Given the description of an element on the screen output the (x, y) to click on. 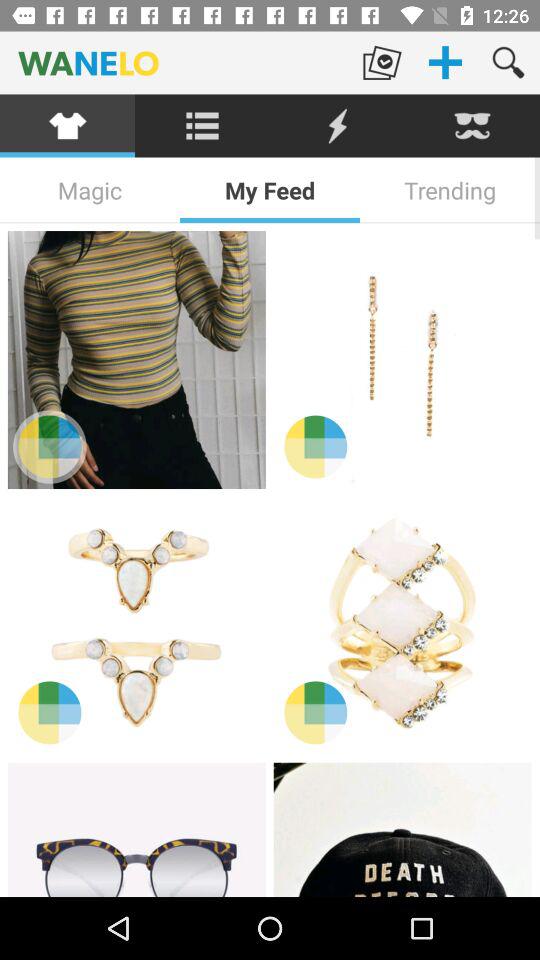
hide tab (472, 125)
